Given the description of an element on the screen output the (x, y) to click on. 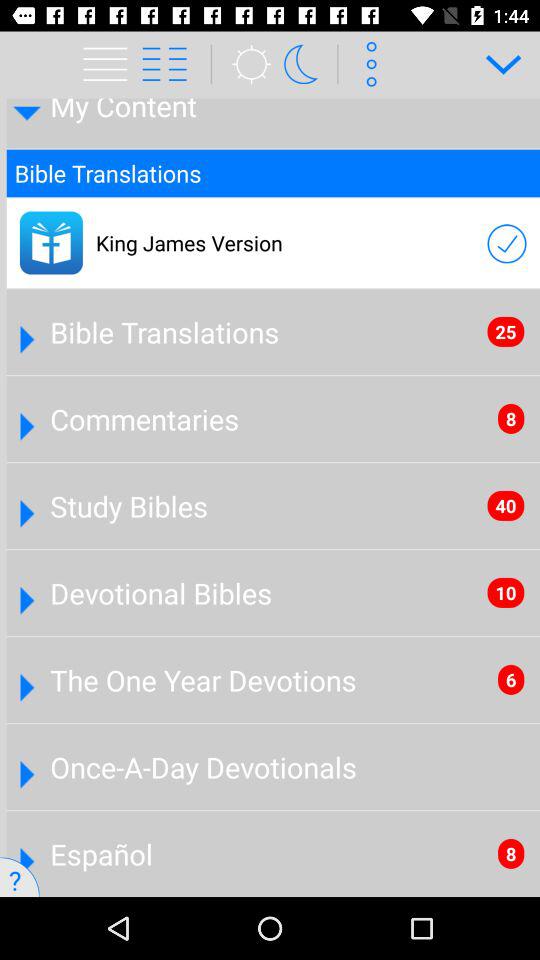
click on night mode icon (307, 63)
